Given the description of an element on the screen output the (x, y) to click on. 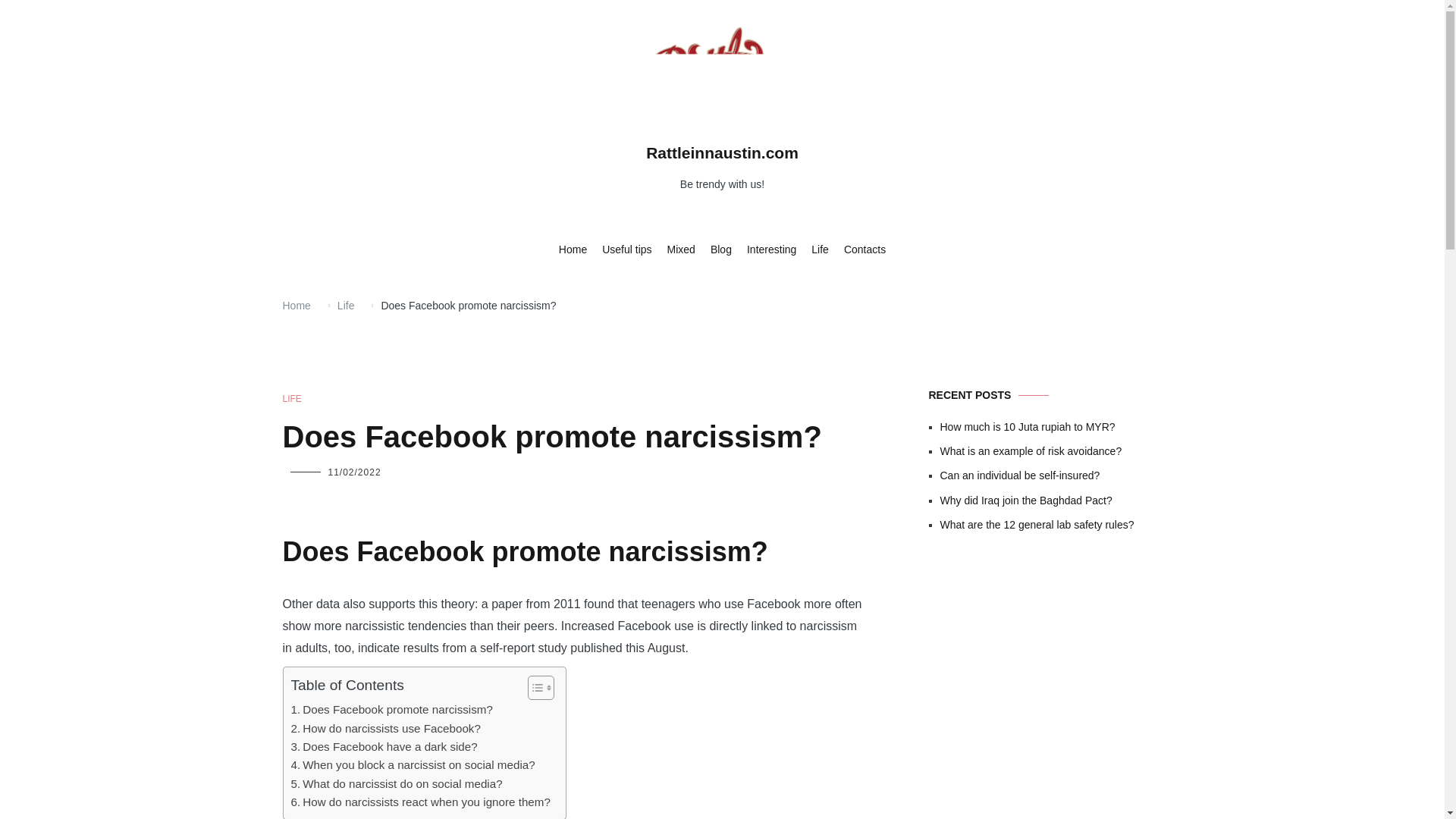
Interesting (771, 249)
When you block a narcissist on social media? (413, 764)
Does Facebook have a dark side? (384, 746)
Rattleinnaustin.com (721, 152)
Contacts (864, 249)
How do narcissists react when you ignore them? (420, 802)
Does Facebook promote narcissism? (392, 710)
Useful tips (626, 249)
What do narcissist do on social media? (396, 783)
LIFE (291, 399)
